Given the description of an element on the screen output the (x, y) to click on. 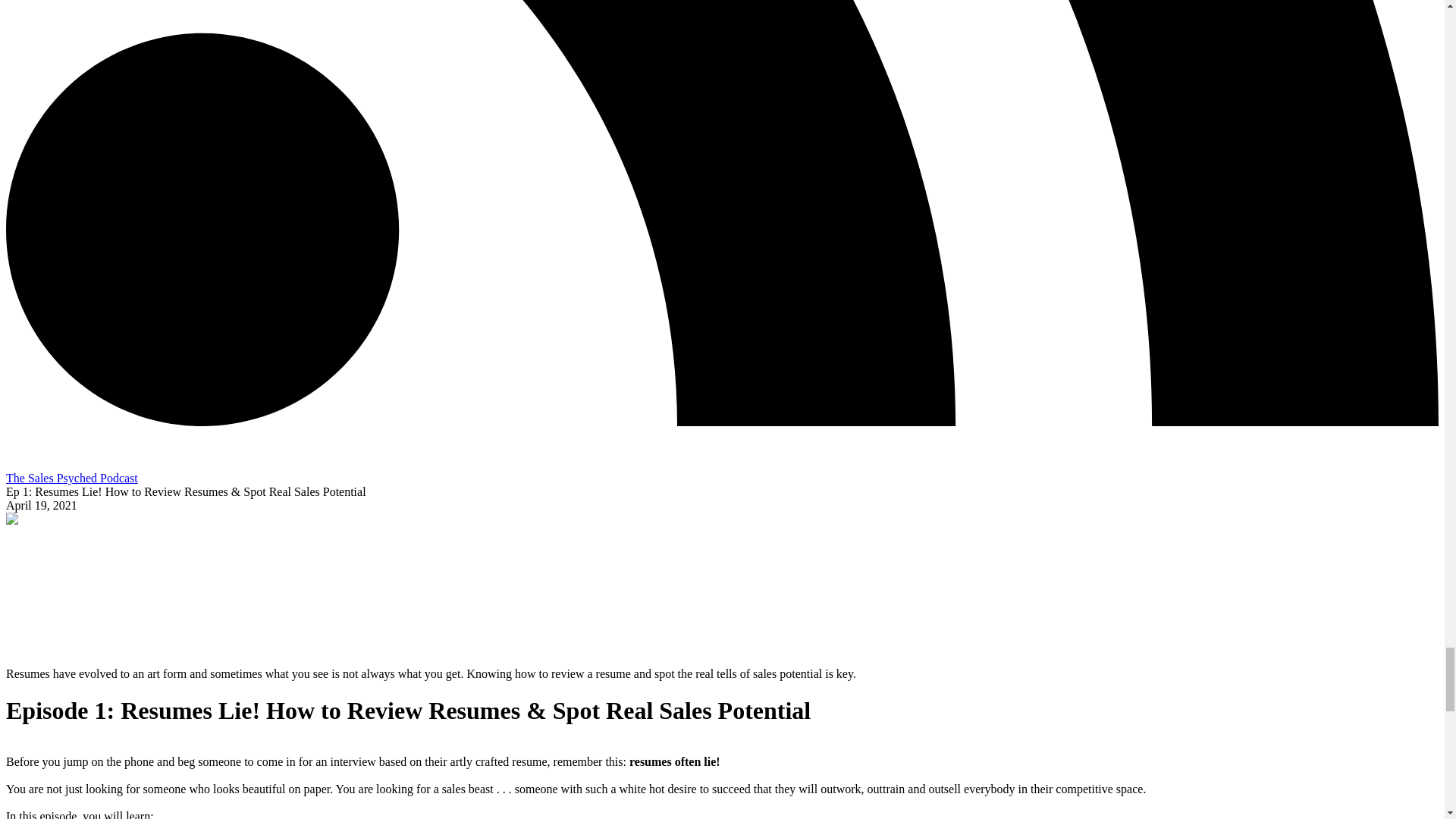
Record audio message (14, 459)
Record audio message (14, 463)
The Sales Psyched Podcast (71, 477)
